Given the description of an element on the screen output the (x, y) to click on. 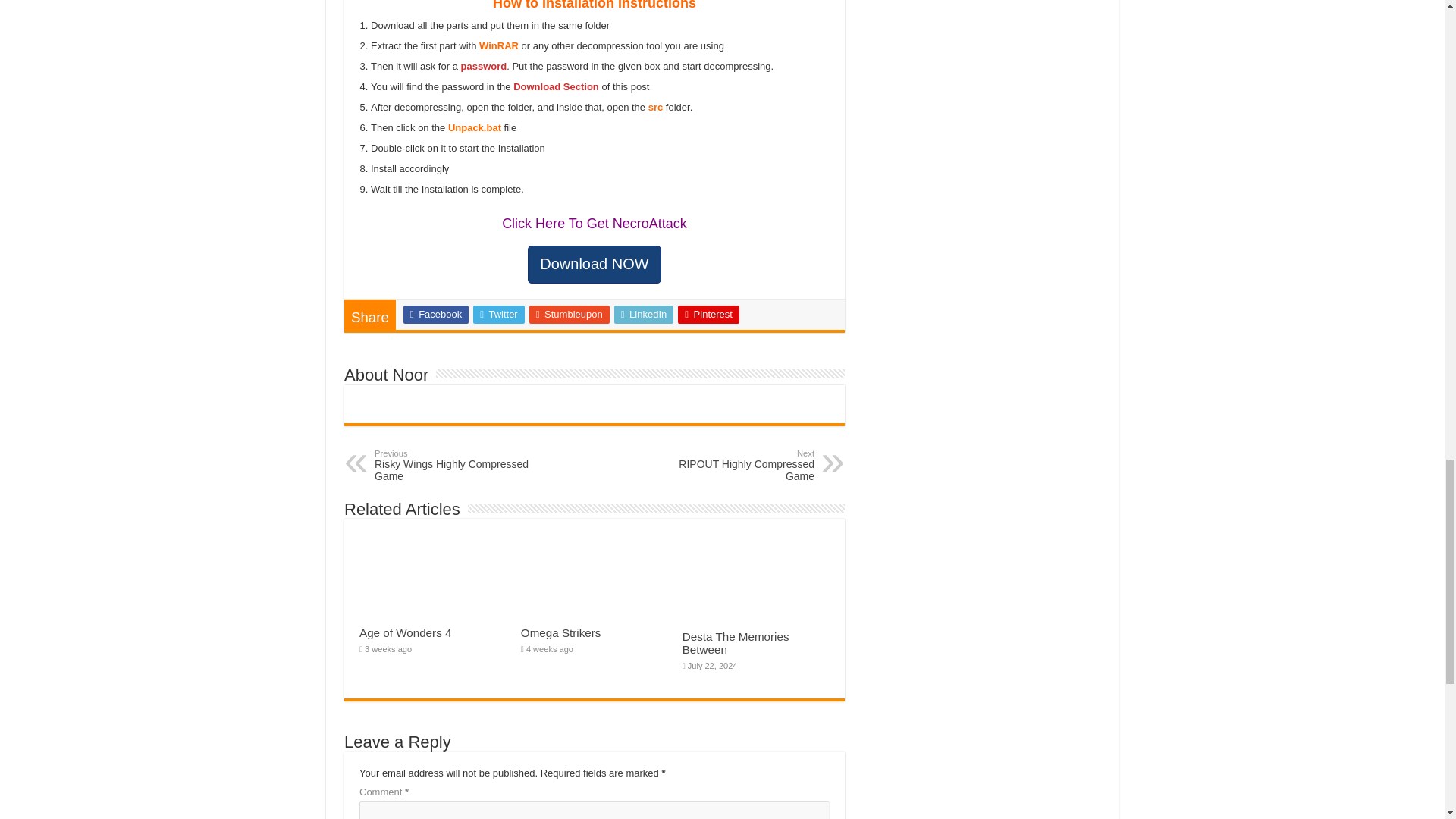
Pinterest (708, 314)
Twitter (498, 314)
Facebook (435, 314)
Click Here To Get NecroAttack (594, 223)
LinkedIn (644, 314)
Download NOW (594, 264)
Stumbleupon (569, 314)
